Given the description of an element on the screen output the (x, y) to click on. 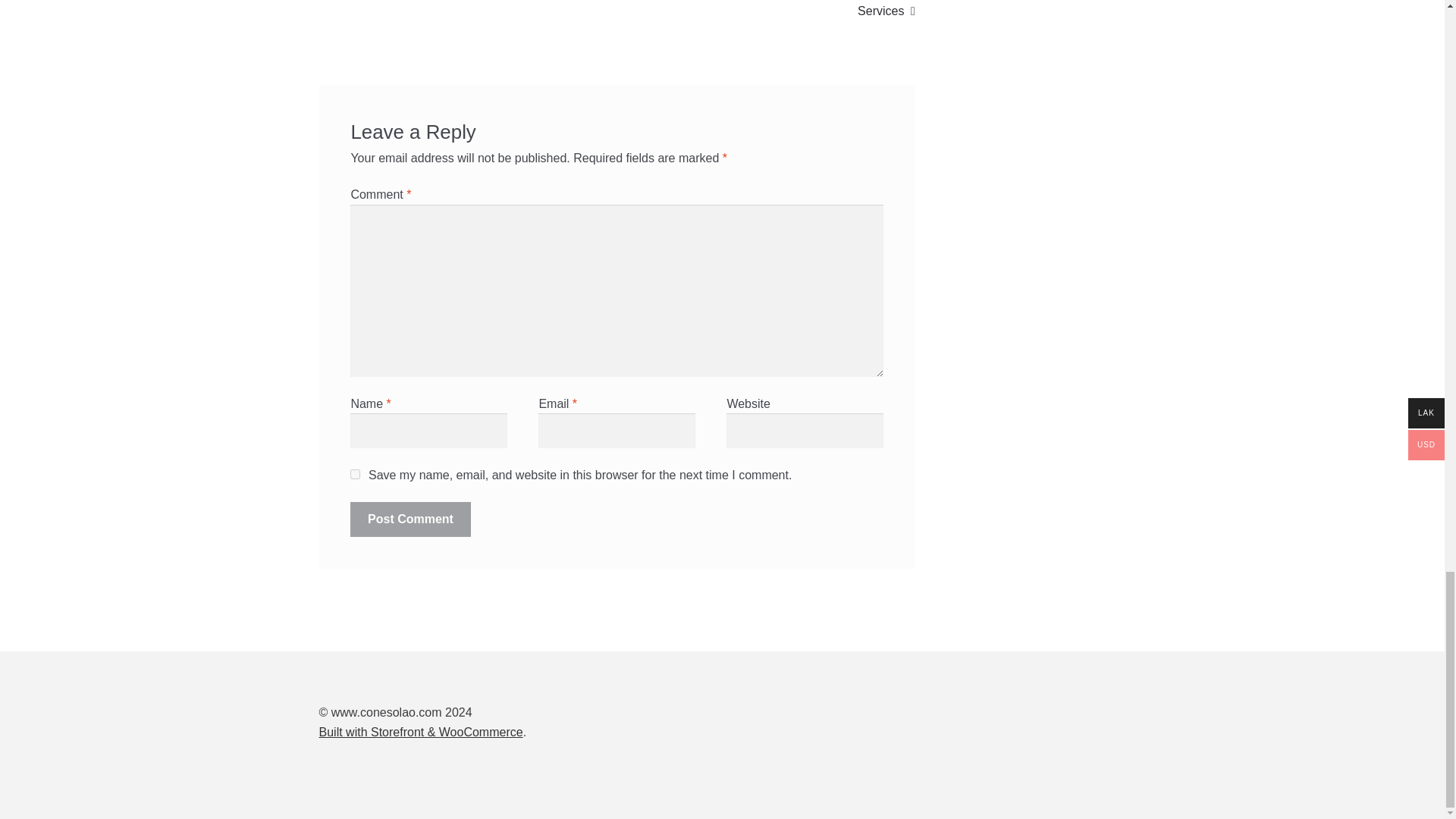
WooCommerce - The Best eCommerce Platform for WordPress (420, 731)
yes (354, 474)
Post Comment (410, 519)
Post Comment (410, 519)
